Given the description of an element on the screen output the (x, y) to click on. 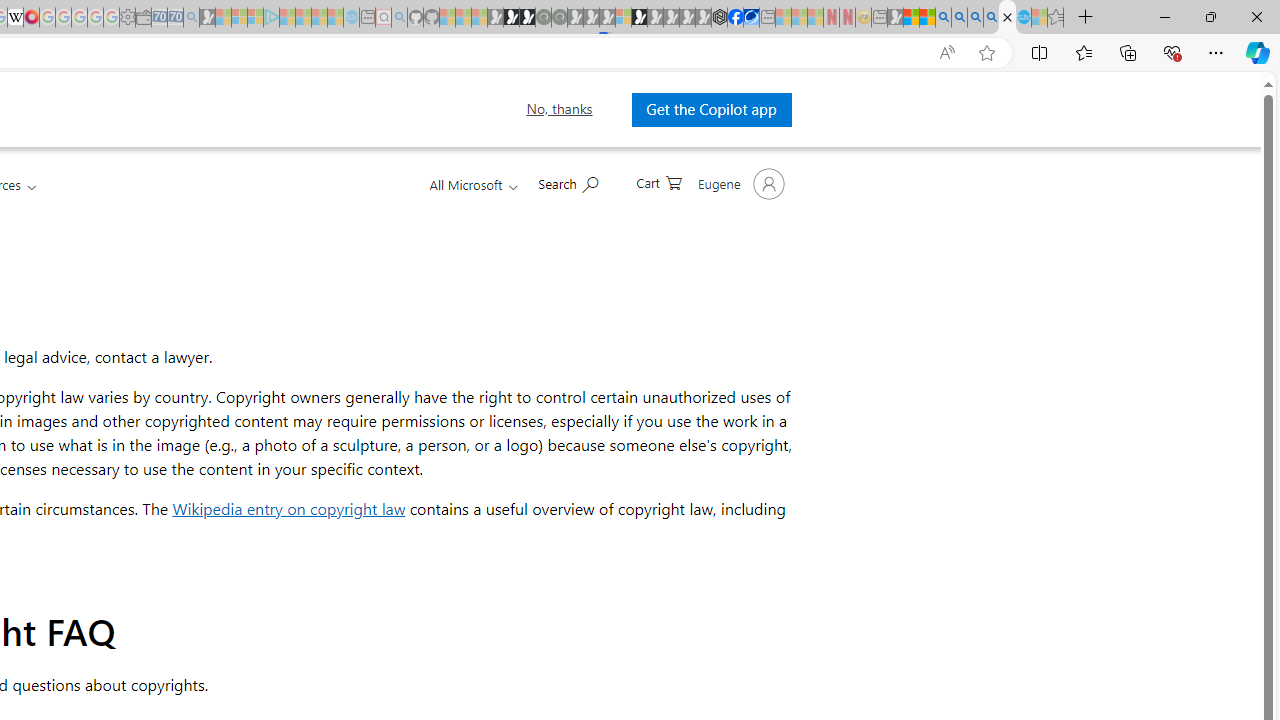
Nordace | Facebook (735, 17)
Visit Wikipedia for an overview of copyright law (288, 508)
Account manager for Eugene (738, 183)
Sign in to your account - Sleeping (623, 17)
github - Search - Sleeping (399, 17)
